Given the description of an element on the screen output the (x, y) to click on. 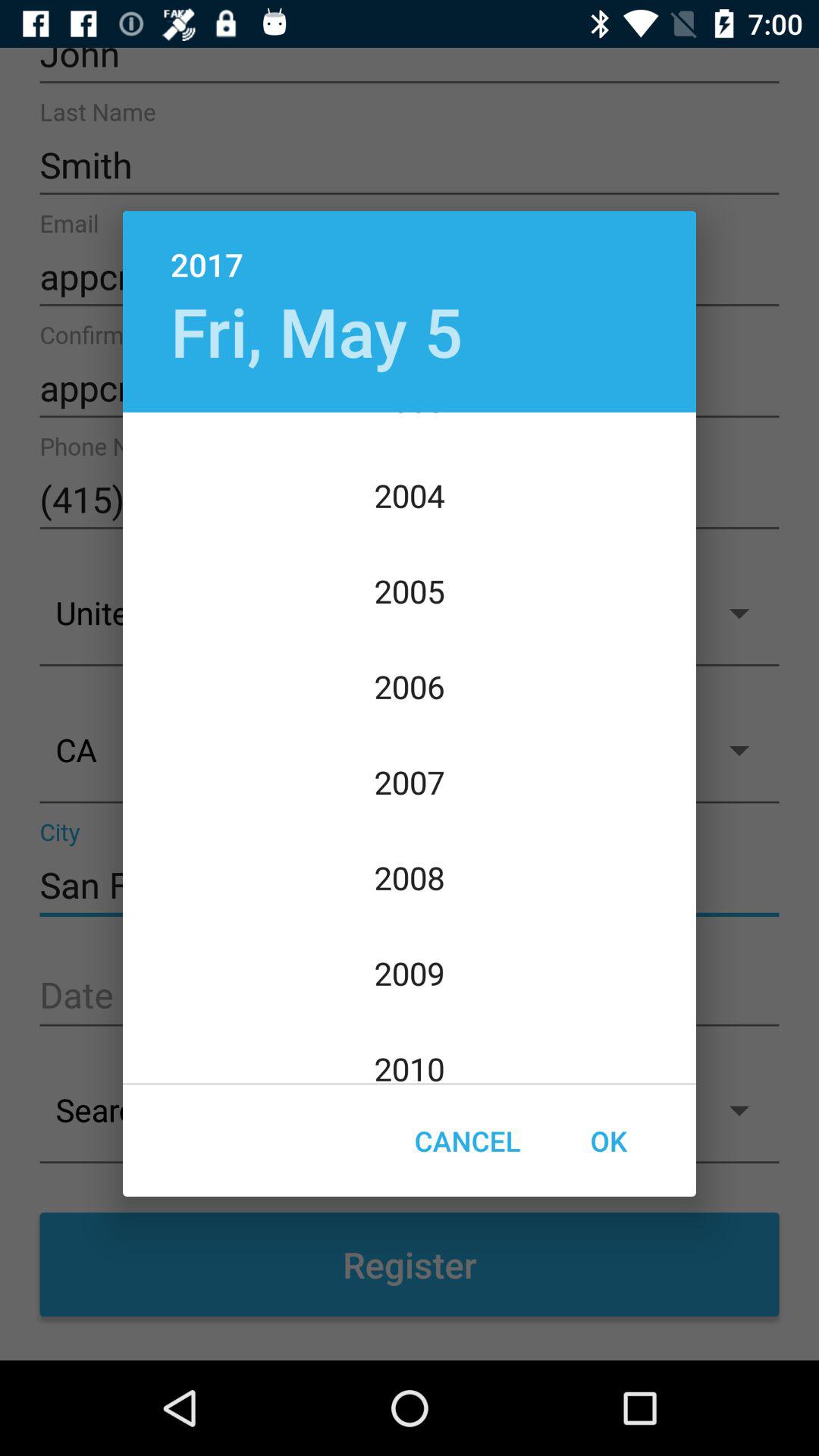
flip until the fri, may 5 item (316, 331)
